Given the description of an element on the screen output the (x, y) to click on. 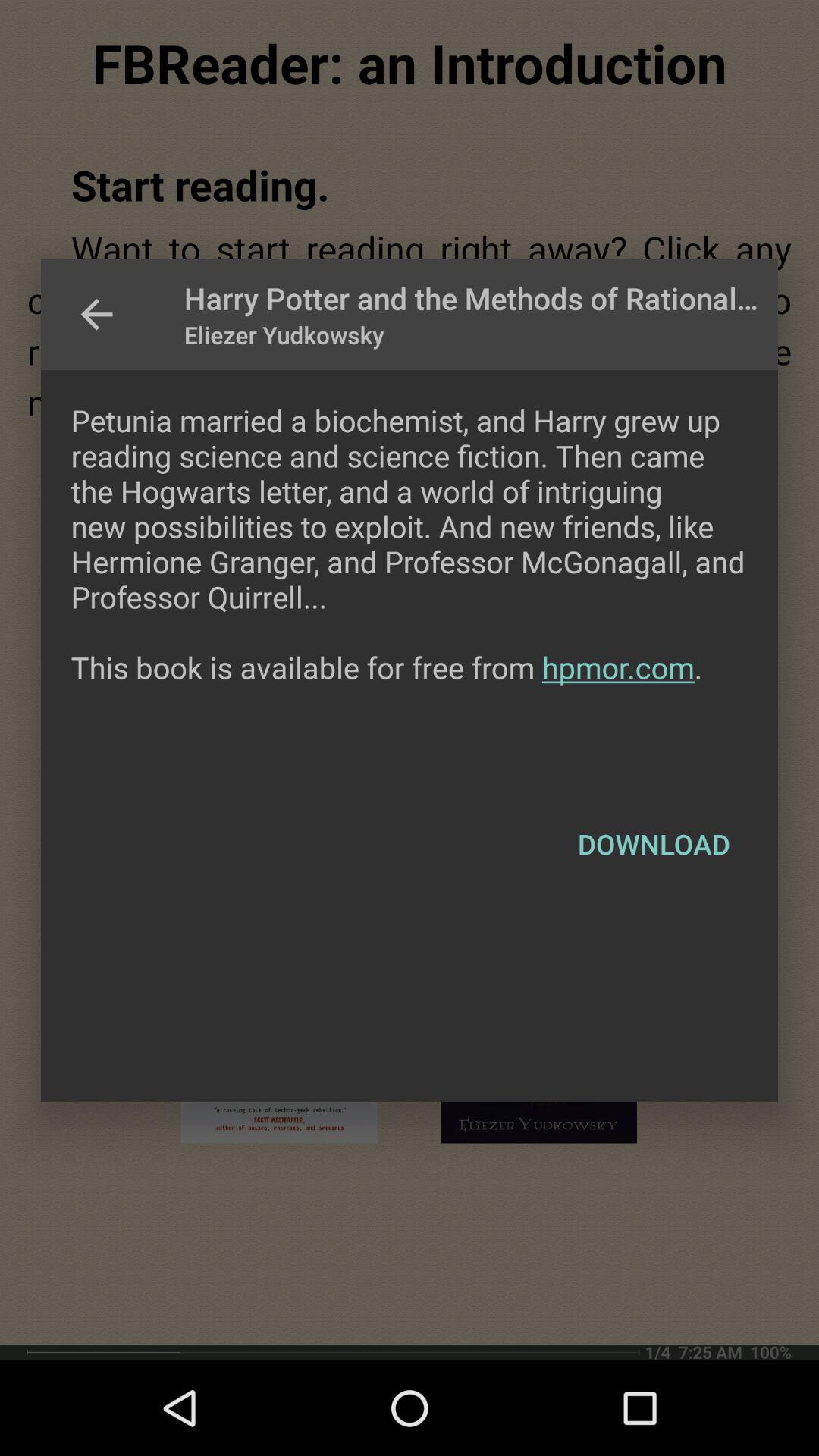
scroll until petunia married a icon (409, 579)
